Given the description of an element on the screen output the (x, y) to click on. 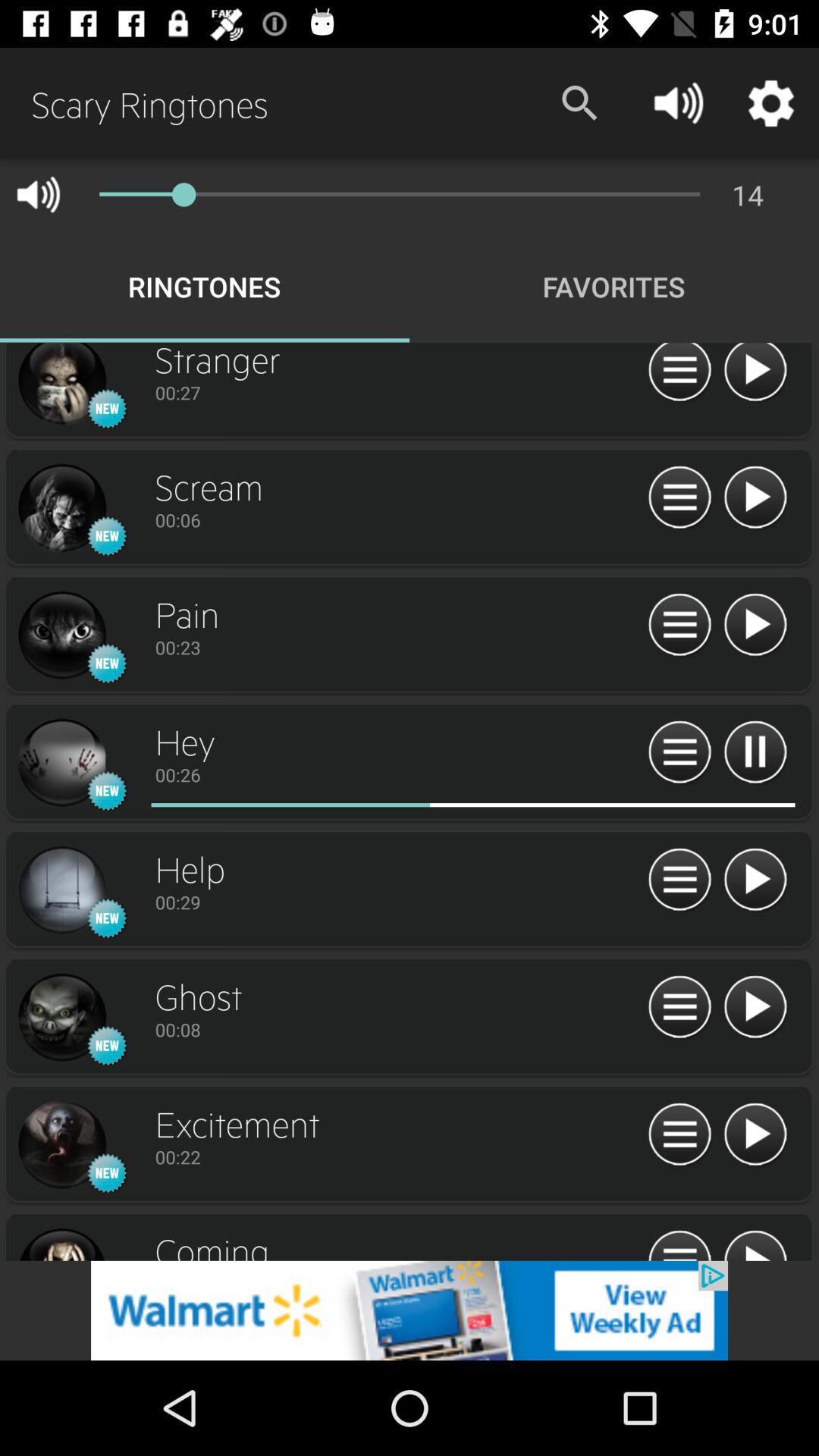
play song (755, 1243)
